Given the description of an element on the screen output the (x, y) to click on. 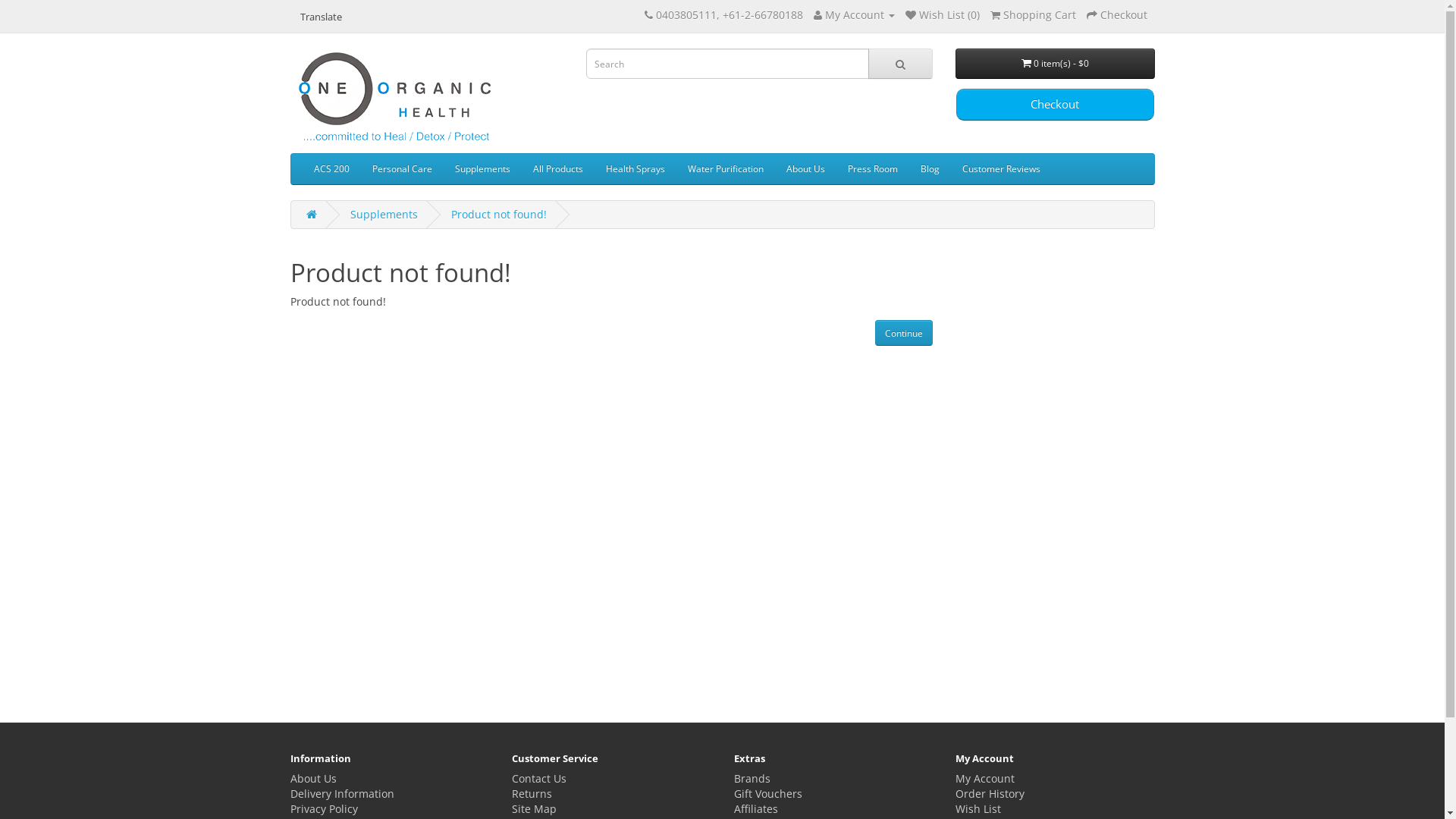
ACS 200 Element type: text (330, 168)
Checkout Element type: text (1055, 104)
Wish List (0) Element type: text (942, 14)
Personal Care Element type: text (401, 168)
0 item(s) - $0 Element type: text (1054, 63)
Customer Reviews Element type: text (1000, 168)
Press Room Element type: text (871, 168)
One Organic Health Element type: hover (394, 96)
Order History Element type: text (989, 793)
Gift Vouchers Element type: text (768, 793)
Supplements Element type: text (383, 214)
Contact Us Element type: text (538, 778)
About Us Element type: text (312, 778)
My Account Element type: text (853, 14)
Health Sprays Element type: text (635, 168)
Blog Element type: text (929, 168)
Site Map Element type: text (533, 808)
Delivery Information Element type: text (341, 793)
My Account Element type: text (984, 778)
About Us Element type: text (805, 168)
Privacy Policy Element type: text (323, 808)
Product not found! Element type: text (498, 214)
Water Purification Element type: text (725, 168)
Brands Element type: text (752, 778)
Supplements Element type: text (481, 168)
Checkout Element type: text (1115, 14)
All Products Element type: text (557, 168)
Shopping Cart Element type: text (1033, 14)
Continue Element type: text (903, 332)
Wish List Element type: text (978, 808)
Returns Element type: text (531, 793)
Affiliates Element type: text (756, 808)
